Given the description of an element on the screen output the (x, y) to click on. 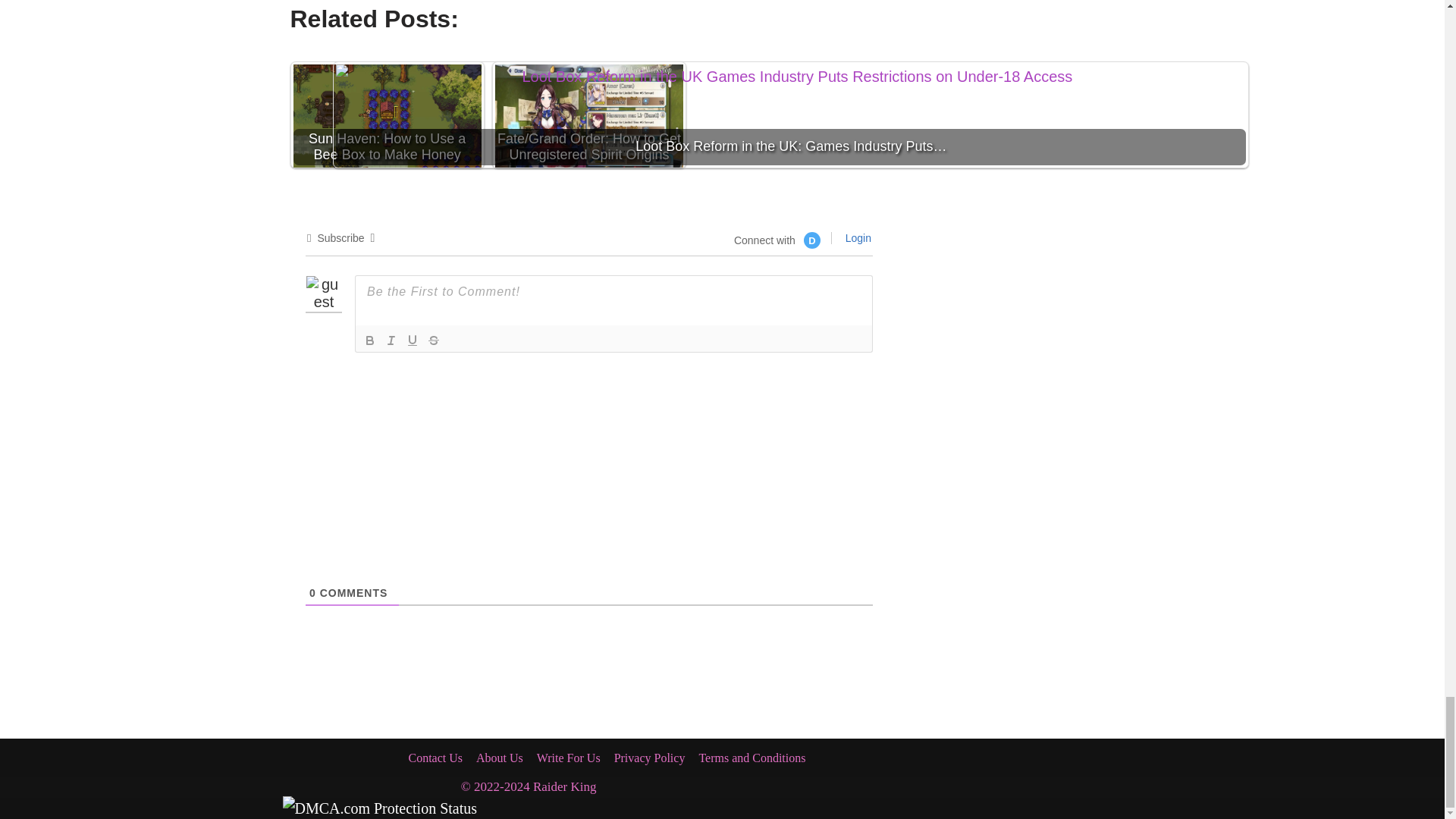
Italic (390, 340)
Strike (433, 340)
Underline (412, 340)
Bold (369, 340)
Sun Haven: How to Use a Bee Box to Make Honey (386, 117)
